Given the description of an element on the screen output the (x, y) to click on. 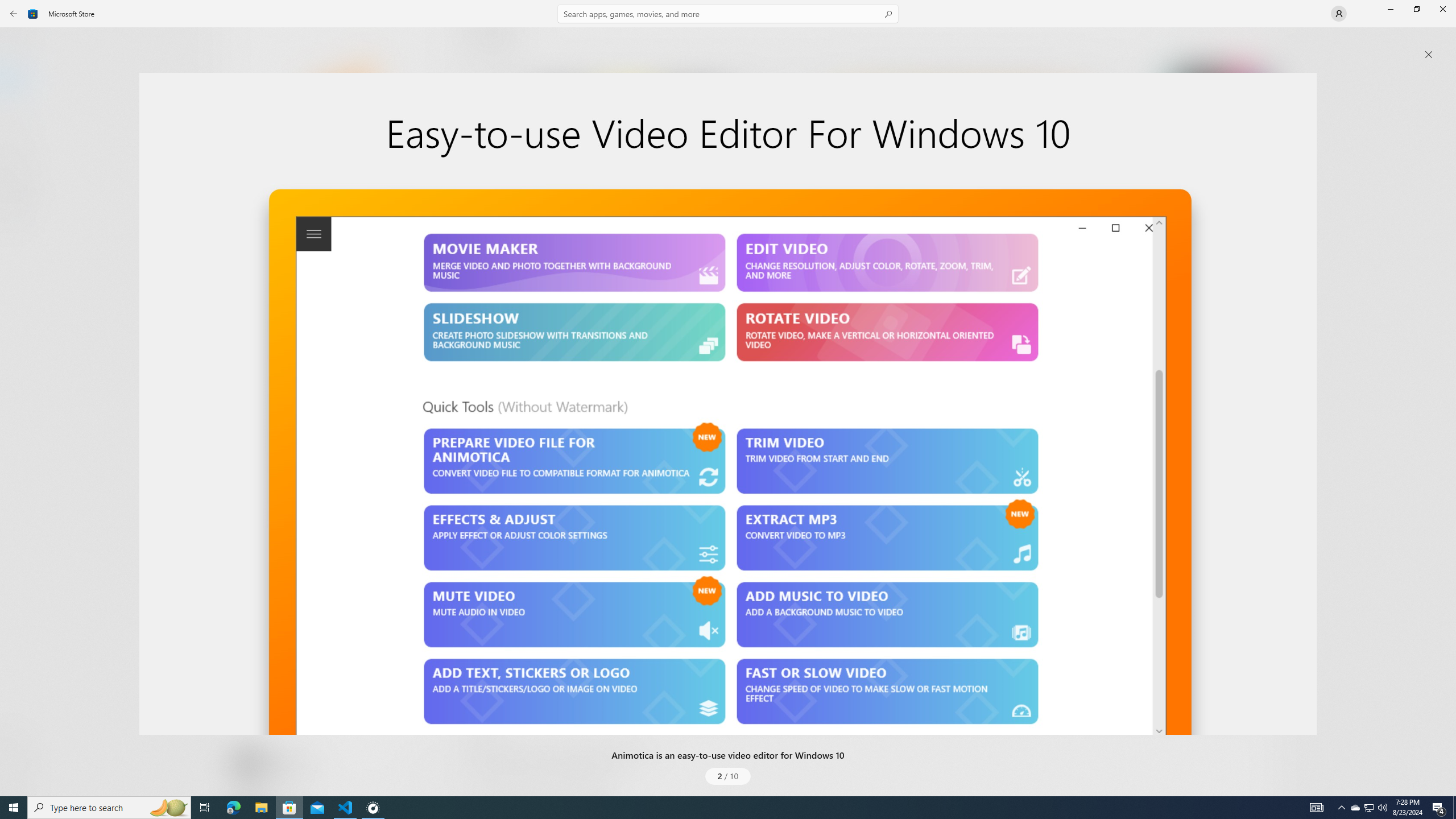
Photo & video (329, 434)
Mixilab (333, 189)
Home (20, 45)
Get (334, 241)
Minimize Microsoft Store (1390, 9)
See all (1253, 41)
Library (20, 773)
AutomationID: NavigationControl (728, 398)
User profile (1338, 13)
Apps (20, 80)
Gaming (20, 115)
Show all ratings and reviews (1253, 465)
Show all ratings and reviews (477, 678)
Arcade (20, 150)
Class: Image (727, 403)
